Given the description of an element on the screen output the (x, y) to click on. 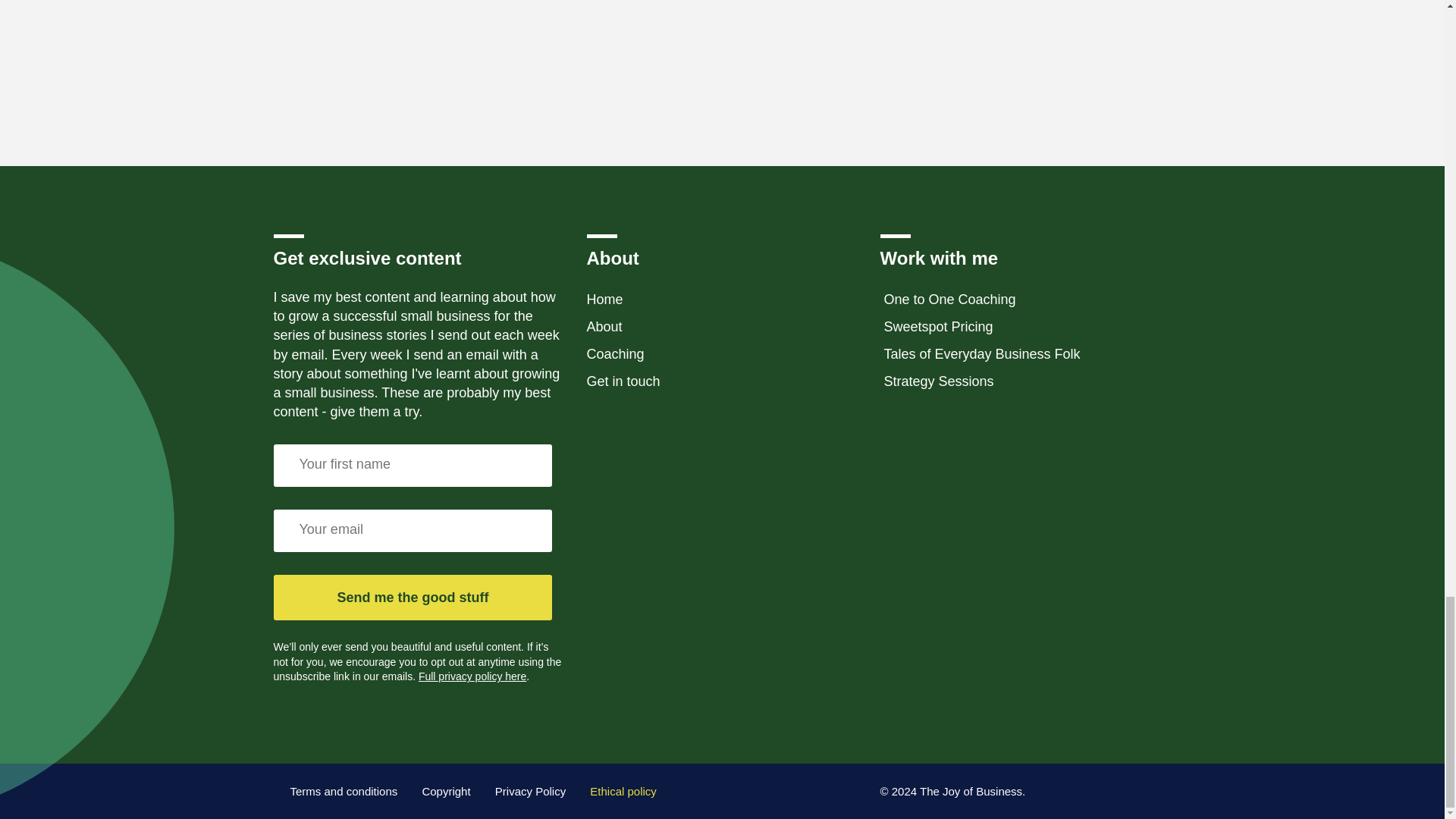
Copyright (446, 790)
Terms and conditions (343, 790)
My philosophy - Julia Chanteray (541, 52)
Privacy Policy (530, 790)
One to One Coaching (949, 299)
Send me the good stuff (412, 596)
Sweetspot Pricing (937, 326)
Send me the good stuff (412, 596)
Ethical policy (622, 790)
Strategy Sessions (938, 381)
